Given the description of an element on the screen output the (x, y) to click on. 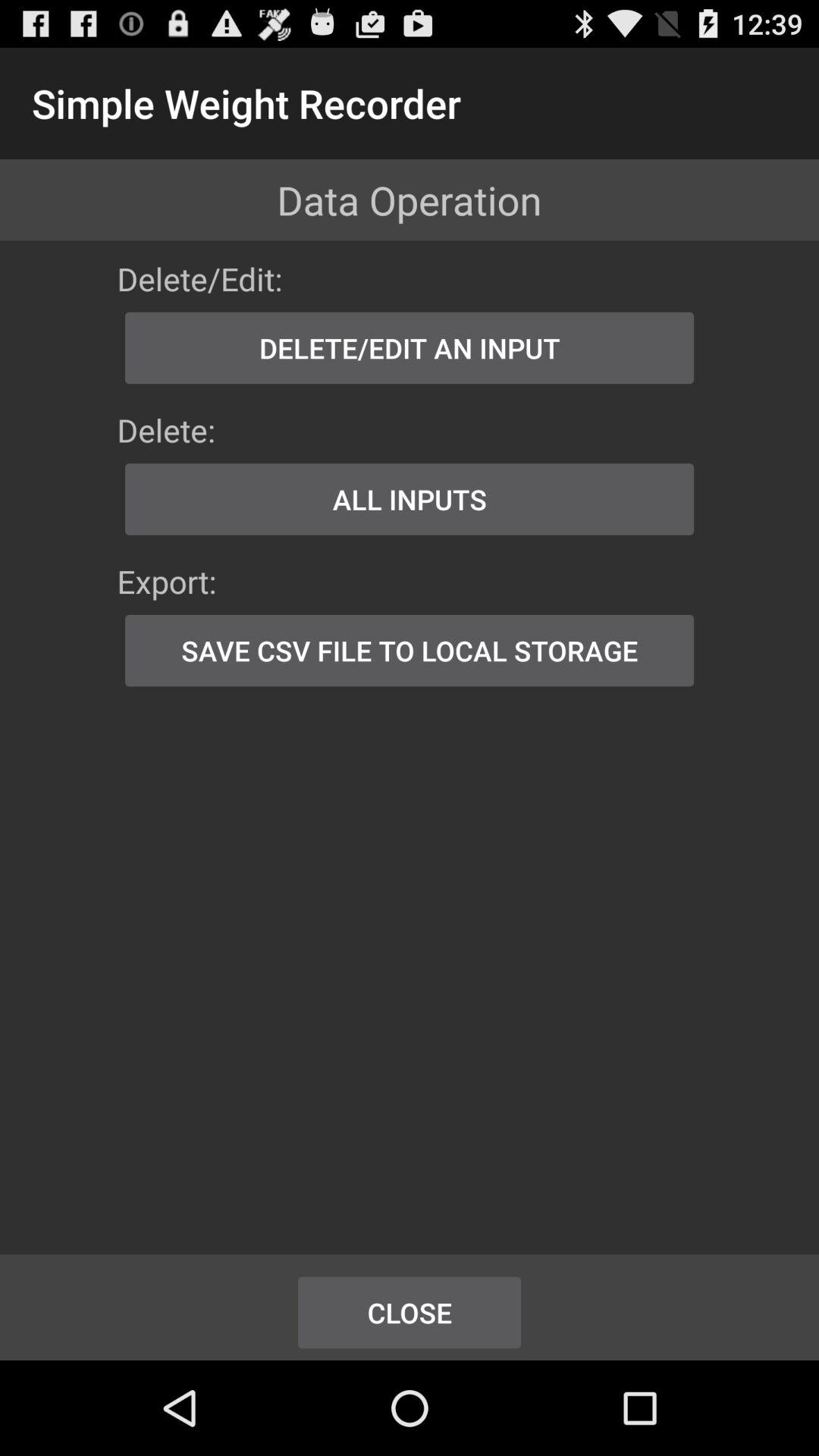
turn on the icon below the save csv file (409, 1312)
